Given the description of an element on the screen output the (x, y) to click on. 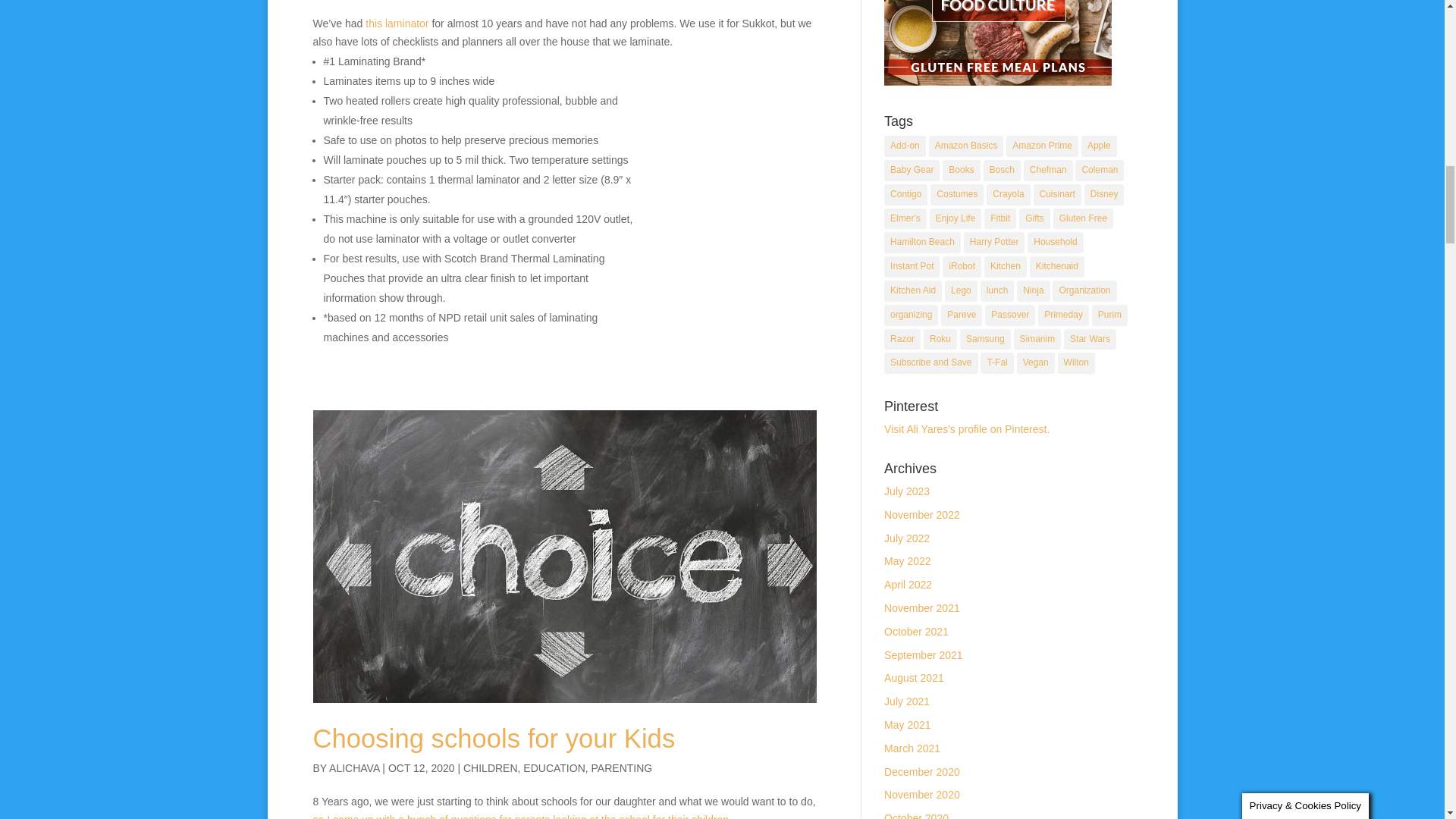
Posts by alichava (353, 767)
